Given the description of an element on the screen output the (x, y) to click on. 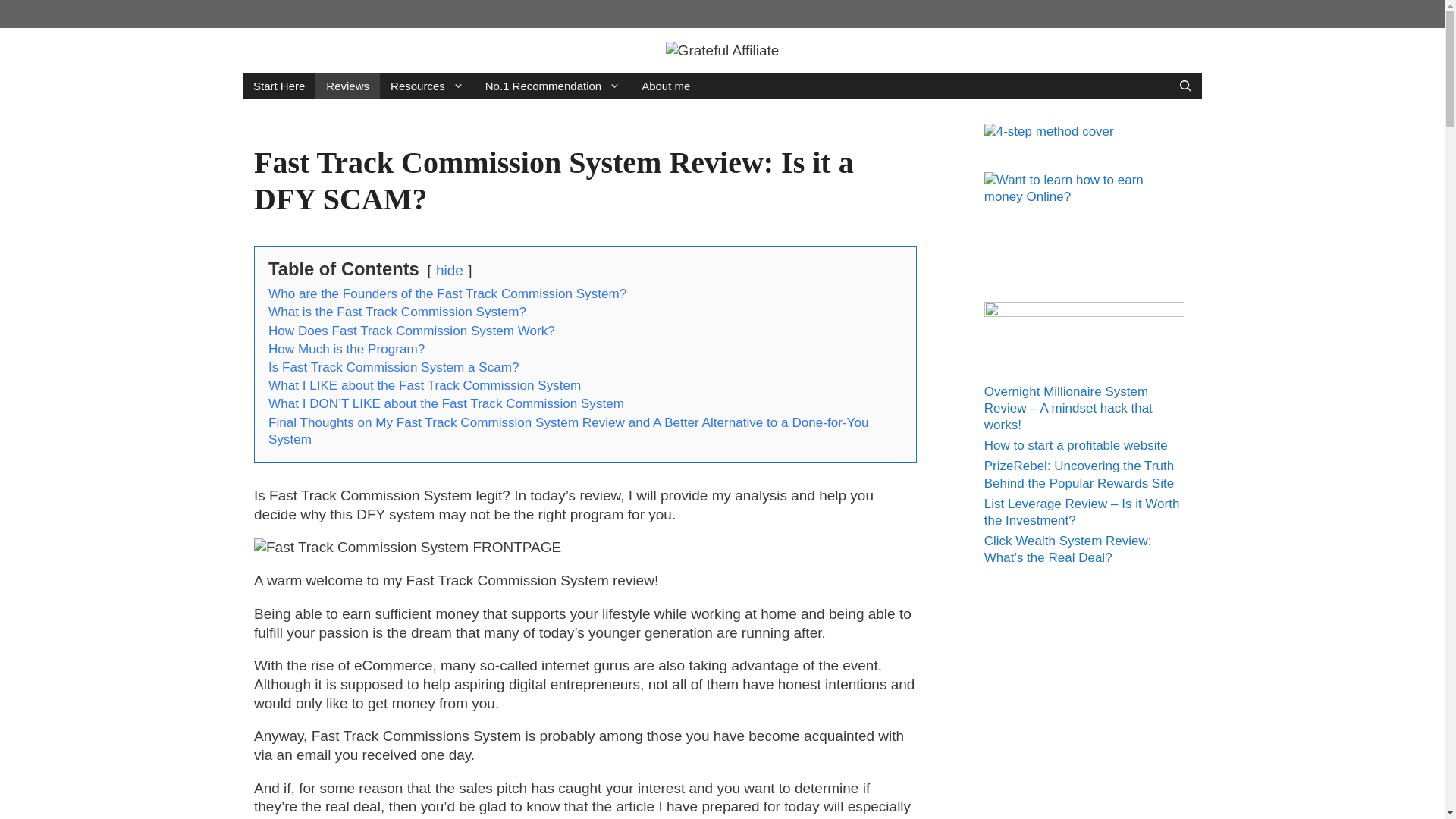
About me (665, 85)
How Does Fast Track Commission System Work? (410, 330)
hide (449, 270)
Start Here (279, 85)
No.1 Recommendation (552, 85)
What is the Fast Track Commission System? (396, 311)
Want to learn how to earn Money online (1083, 188)
Who are the Founders of the Fast Track Commission System? (446, 293)
What I LIKE about the Fast Track Commission System (423, 385)
How Much is the Program? (346, 349)
Resources (427, 85)
Is Fast Track Commission System a Scam? (393, 367)
Reviews (347, 85)
